Given the description of an element on the screen output the (x, y) to click on. 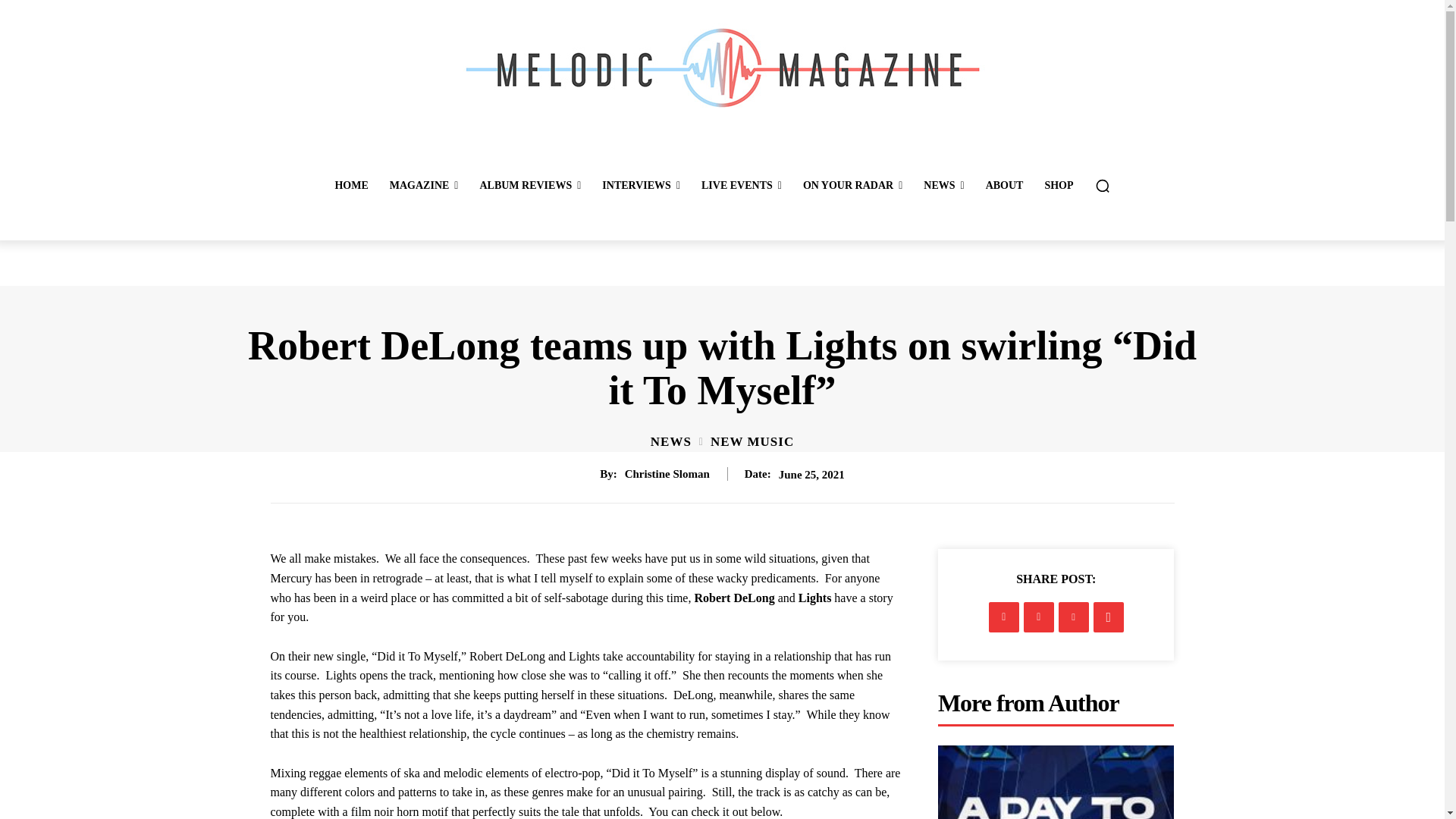
ALBUM REVIEWS (529, 185)
HOME (350, 185)
MAGAZINE (423, 185)
